Given the description of an element on the screen output the (x, y) to click on. 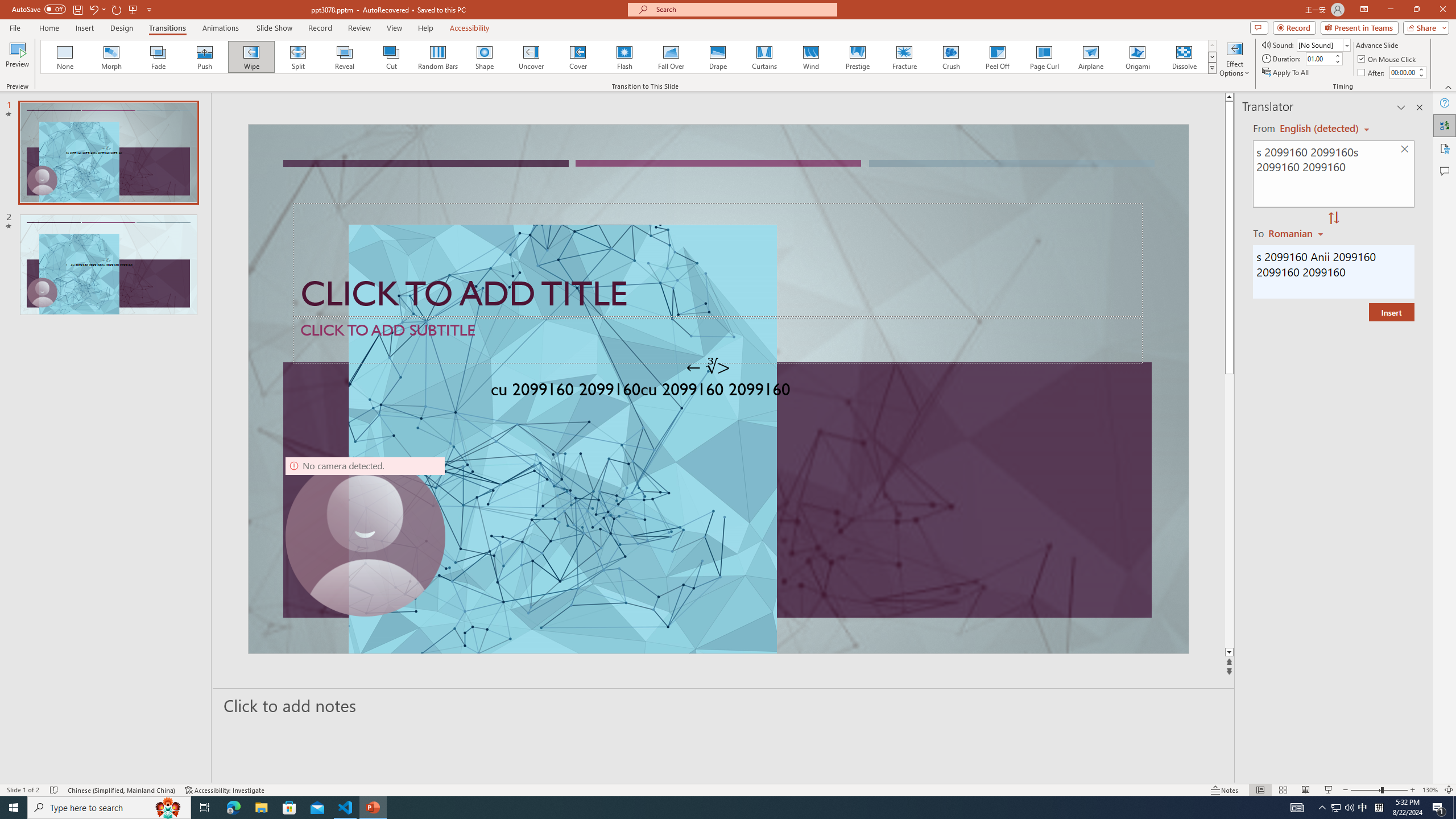
Zoom 130% (1430, 790)
An abstract genetic concept (718, 388)
Page Curl (1043, 56)
Reveal (344, 56)
Clear text (1404, 149)
